Given the description of an element on the screen output the (x, y) to click on. 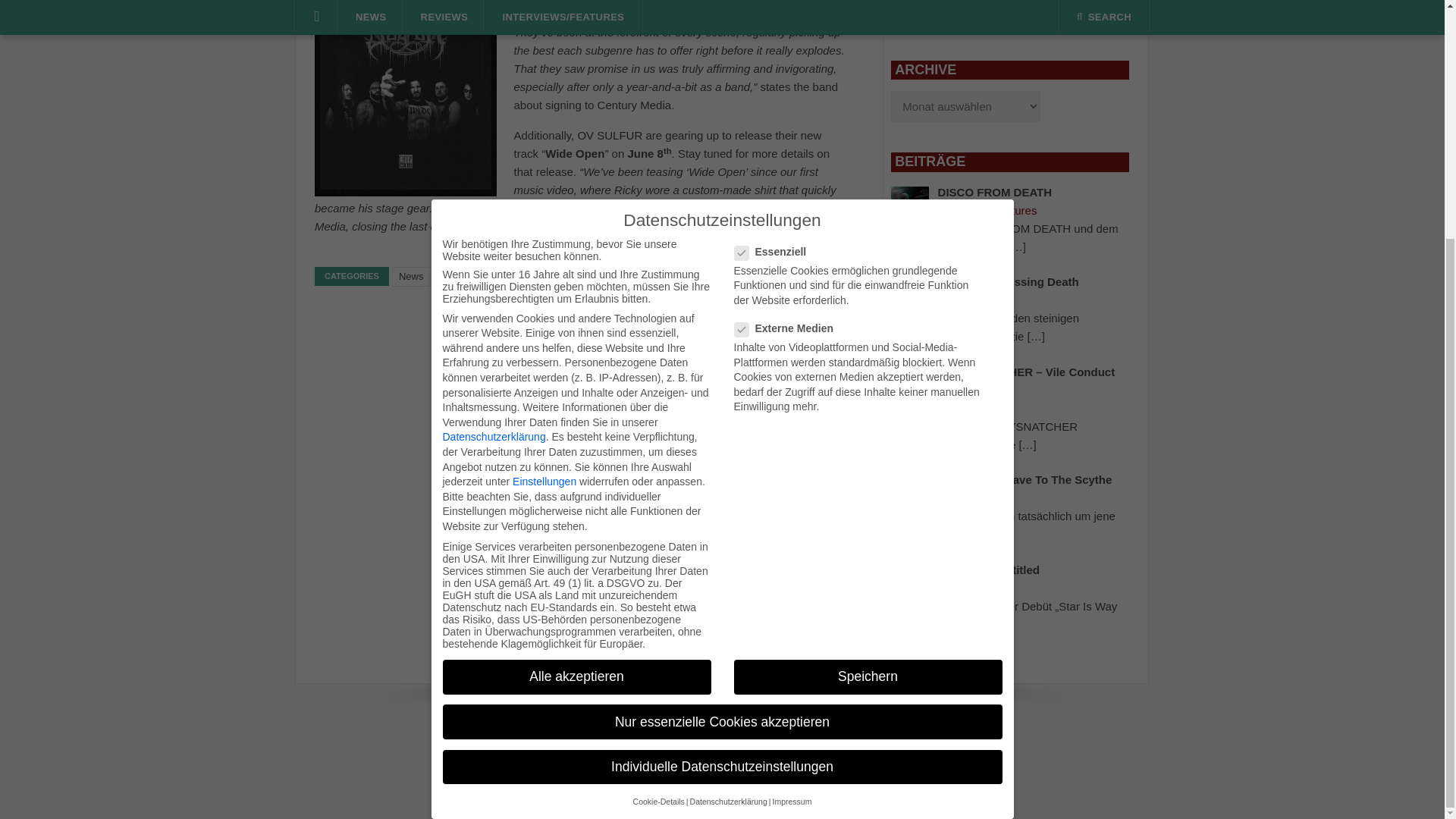
Reviews (1014, 18)
Speichern (868, 349)
Cookie-Details (658, 473)
Impressum (790, 473)
Impressum (674, 740)
News (410, 276)
Datenschutz (765, 740)
Individuelle Datenschutzeinstellungen (722, 439)
Einstellungen (544, 153)
DISCO FROM DEATH (994, 192)
Alle akzeptieren (576, 349)
Nur essenzielle Cookies akzeptieren (722, 393)
